Given the description of an element on the screen output the (x, y) to click on. 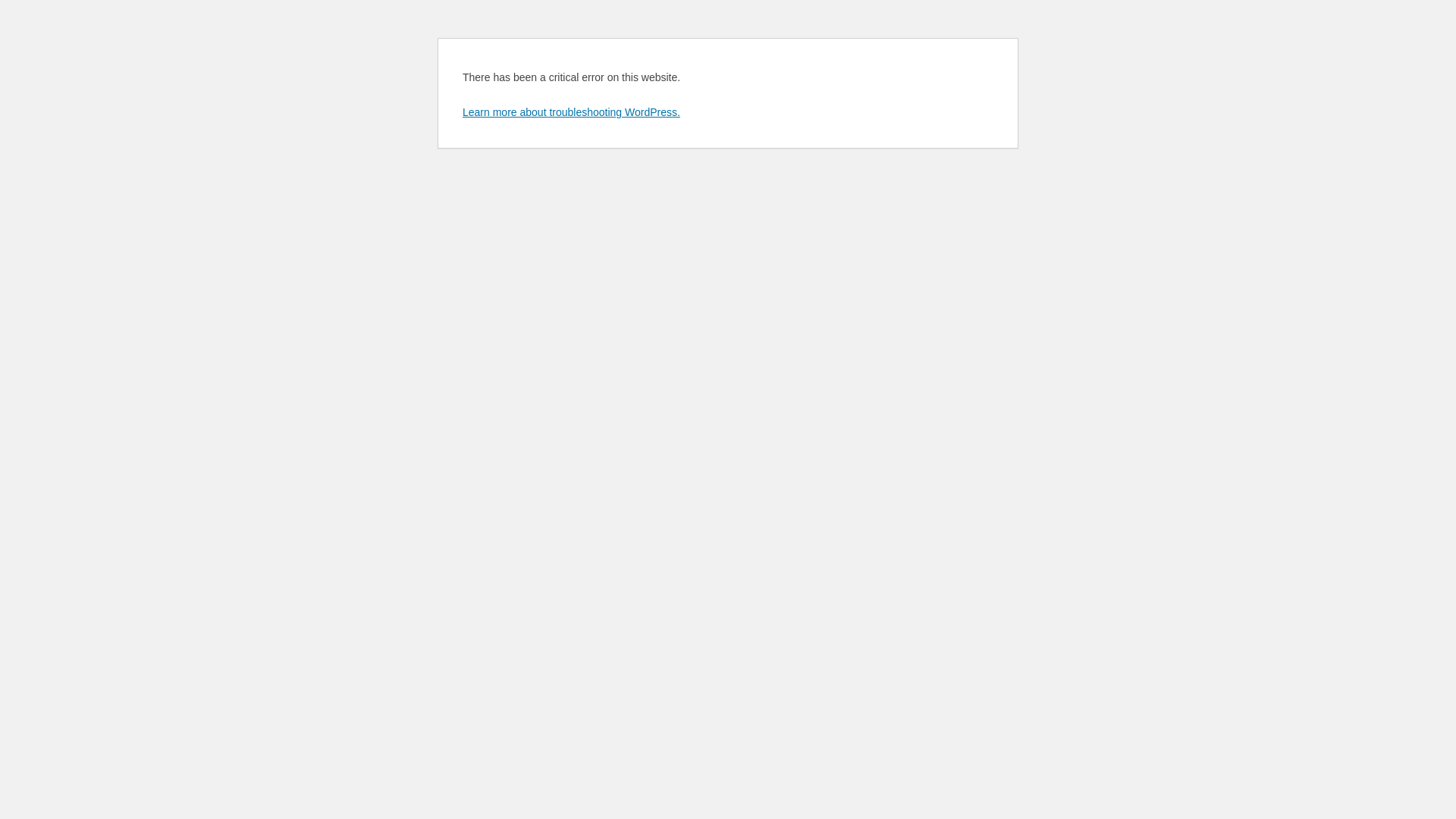
Learn more about troubleshooting WordPress. Element type: text (571, 112)
